Given the description of an element on the screen output the (x, y) to click on. 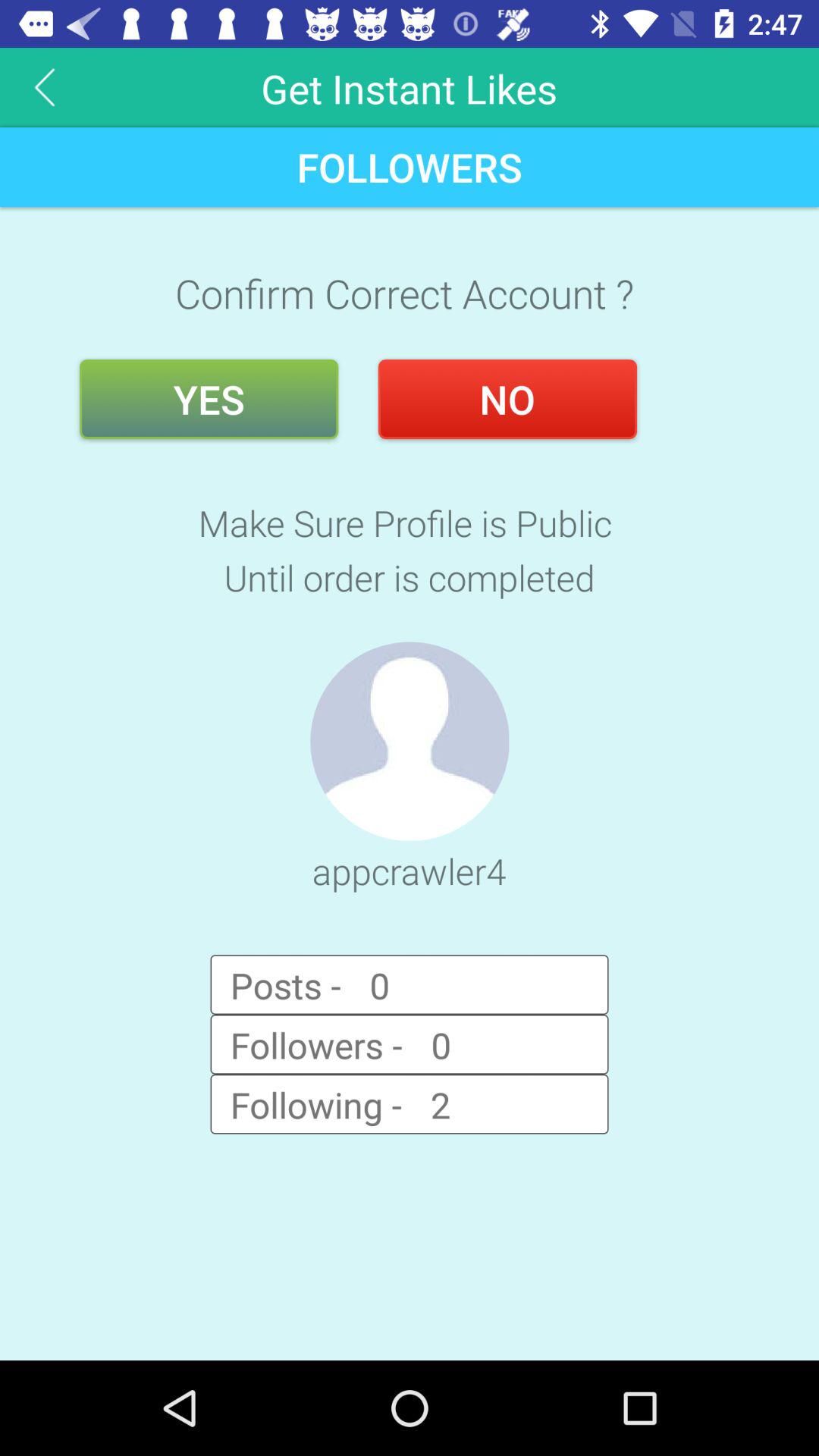
turn on the yes icon (208, 399)
